Given the description of an element on the screen output the (x, y) to click on. 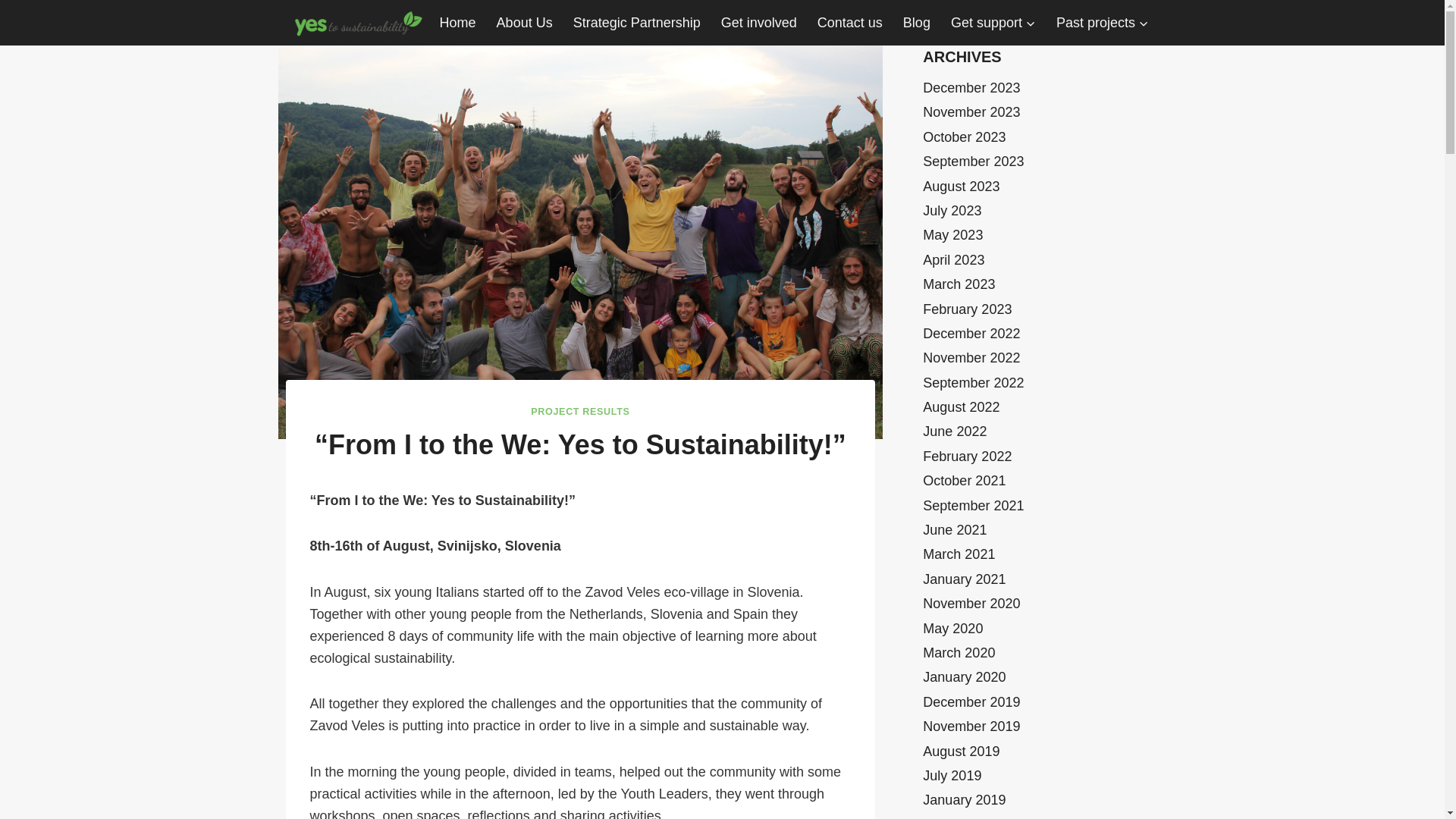
December 2022 (971, 333)
Contact us (849, 22)
July 2023 (952, 210)
December 2023 (971, 87)
November 2023 (971, 111)
October 2023 (964, 136)
Home (457, 22)
Strategic Partnership (636, 22)
PROJECT RESULTS (579, 411)
Get support (992, 22)
